Given the description of an element on the screen output the (x, y) to click on. 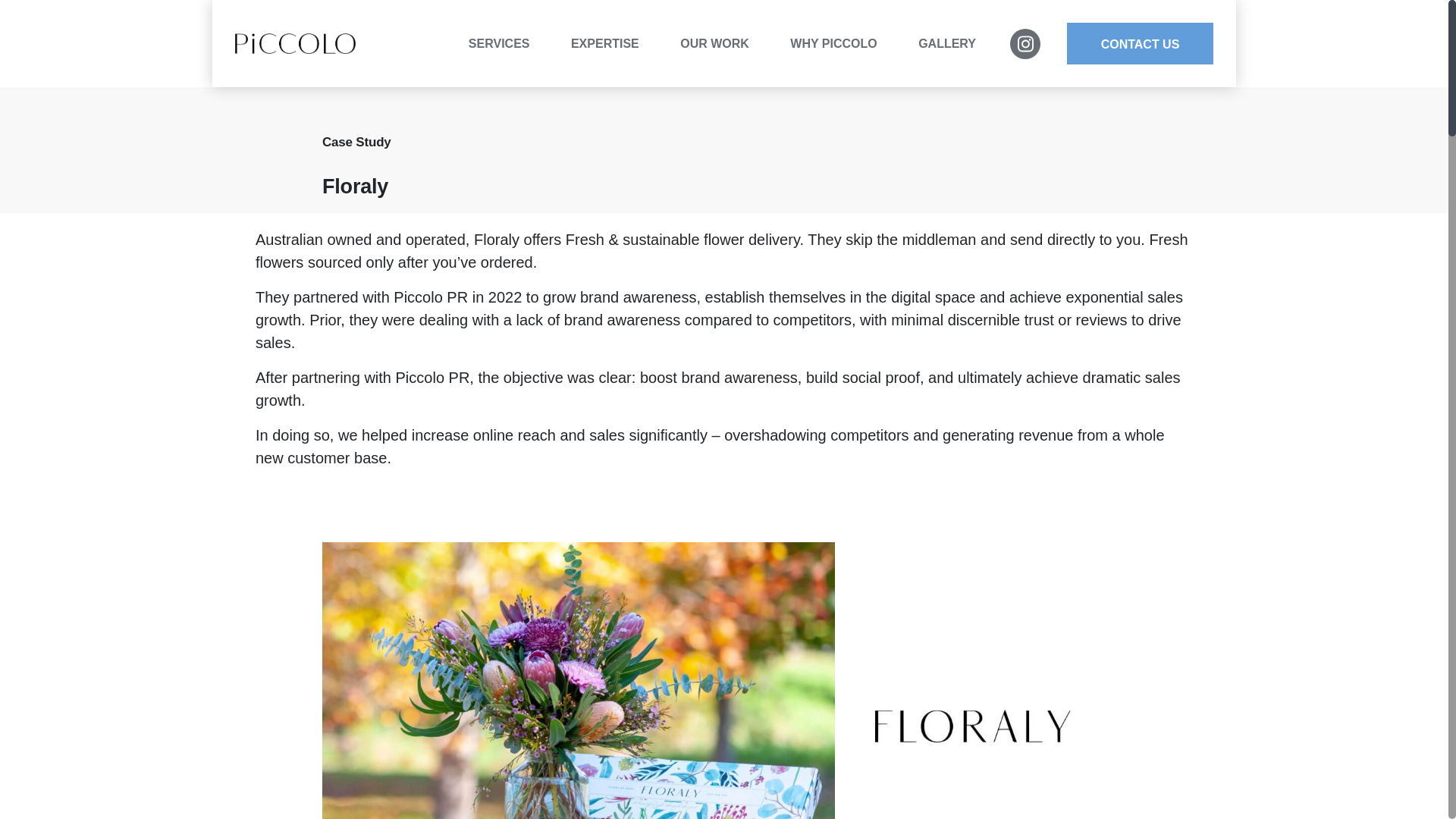
SERVICES (508, 43)
OUR STORY (883, 70)
OUR WORK (723, 43)
GALLERY (946, 43)
TESTIMONIALS (772, 70)
WHY PICCOLO (842, 43)
BEAUTY (663, 70)
EXPERTISE (614, 43)
CONTACT US (1139, 43)
PUBLIC RELATIONS (561, 70)
